Given the description of an element on the screen output the (x, y) to click on. 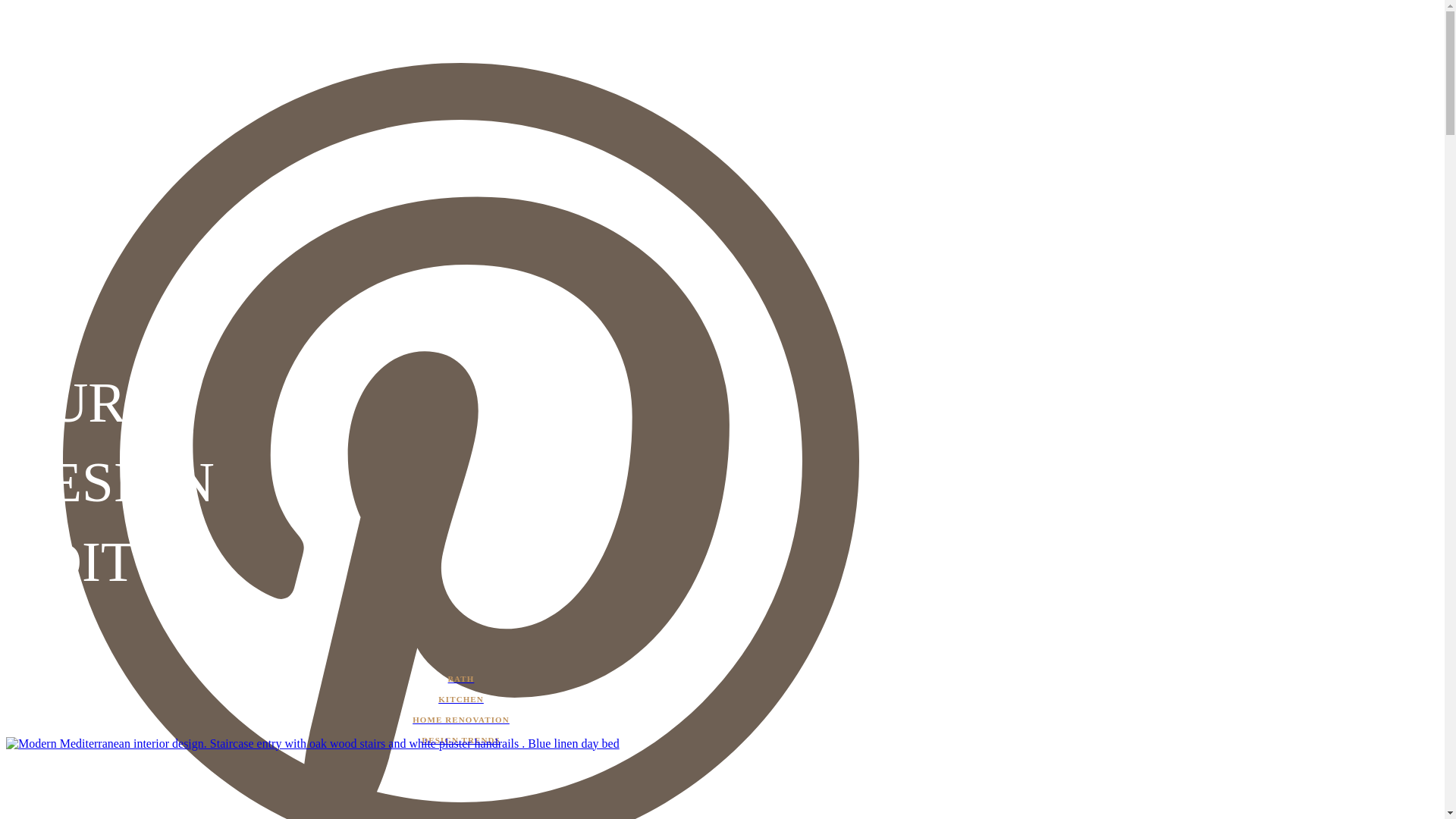
DESIGN TRENDS (460, 740)
KITCHEN (460, 699)
HOME RENOVATION (460, 720)
BATH (460, 679)
